Given the description of an element on the screen output the (x, y) to click on. 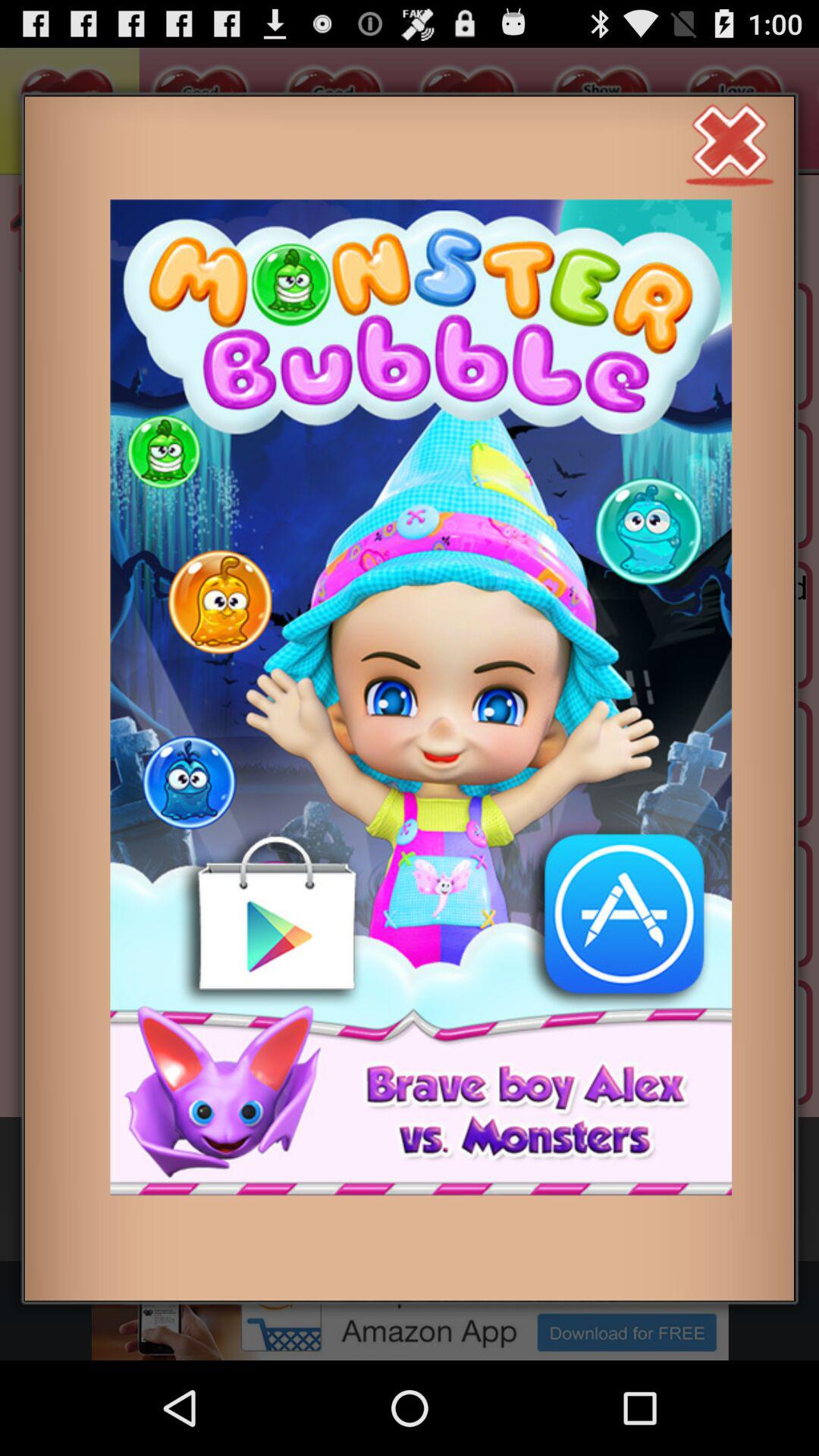
close advertisement (730, 142)
